Given the description of an element on the screen output the (x, y) to click on. 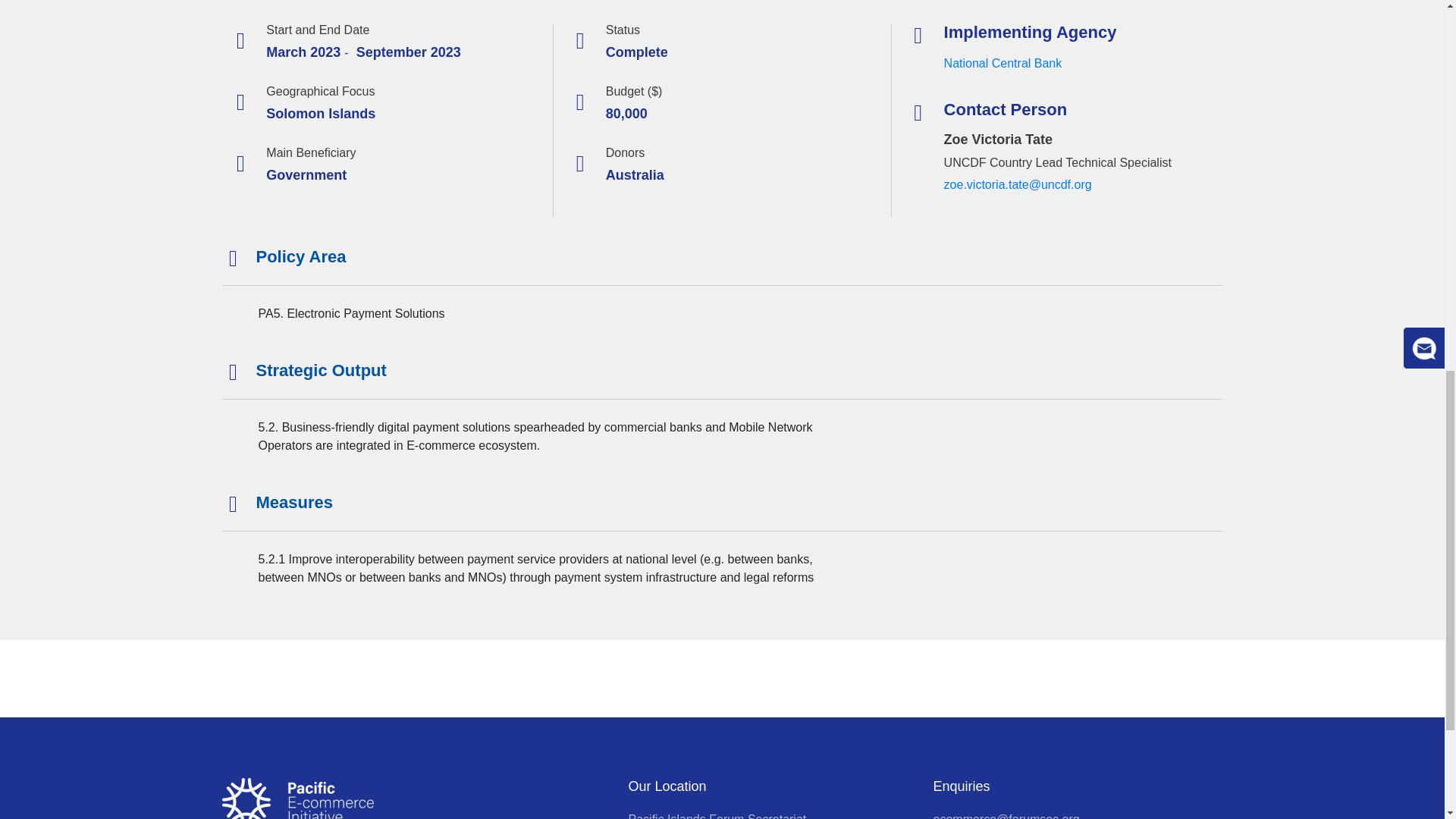
logo-white (296, 798)
